Given the description of an element on the screen output the (x, y) to click on. 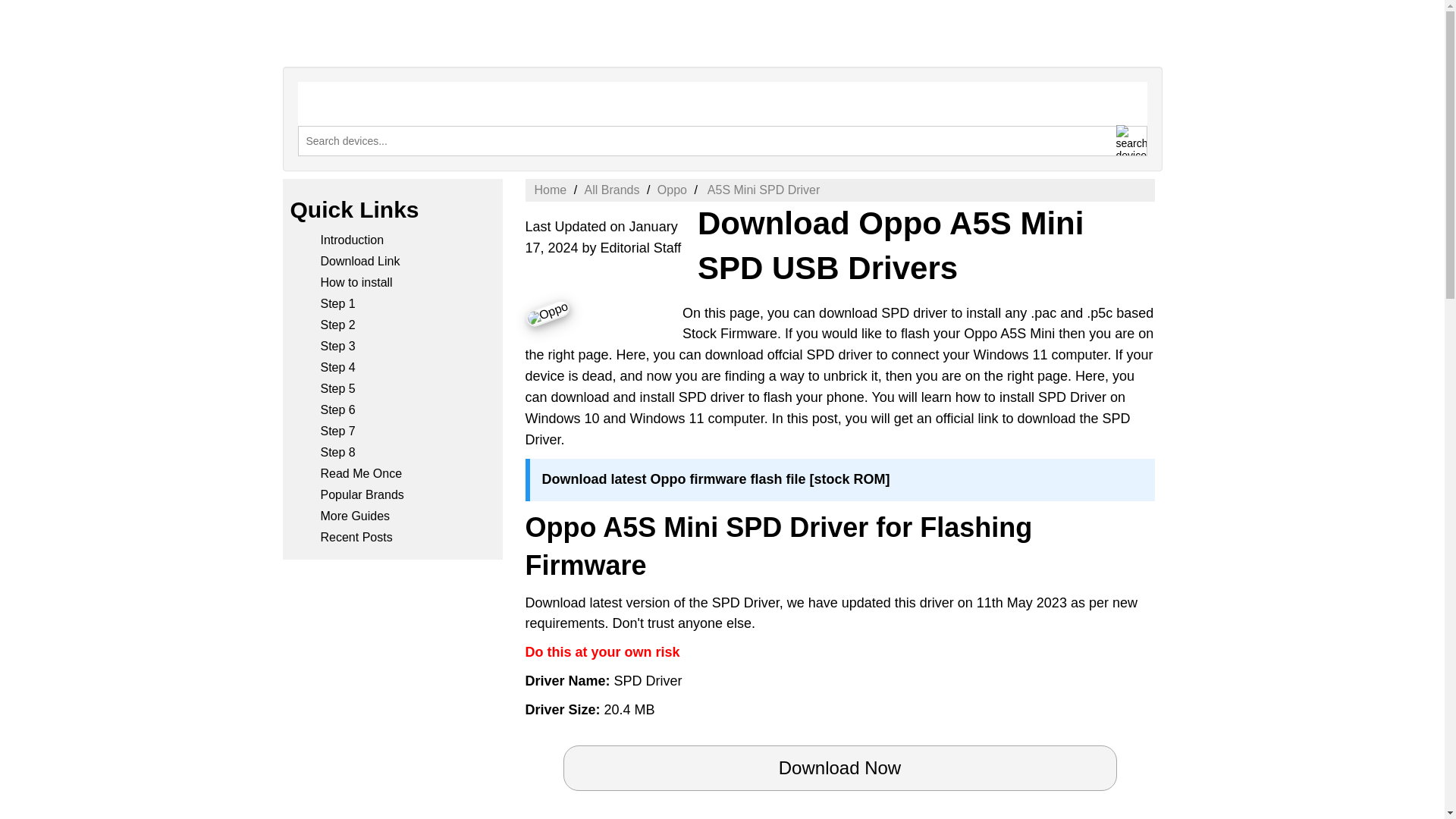
Download Now (839, 768)
All Brands (612, 189)
Huawei (887, 95)
Read Me Once (360, 472)
Vivo (1127, 95)
Popular Brands (361, 494)
Step 7 (337, 431)
Step 1 (337, 303)
A5S Mini SPD Driver (761, 189)
Realme (1049, 95)
More Guides (355, 515)
All Brands (612, 189)
Step 3 (337, 345)
Oppo (546, 305)
Oppo (968, 95)
